Given the description of an element on the screen output the (x, y) to click on. 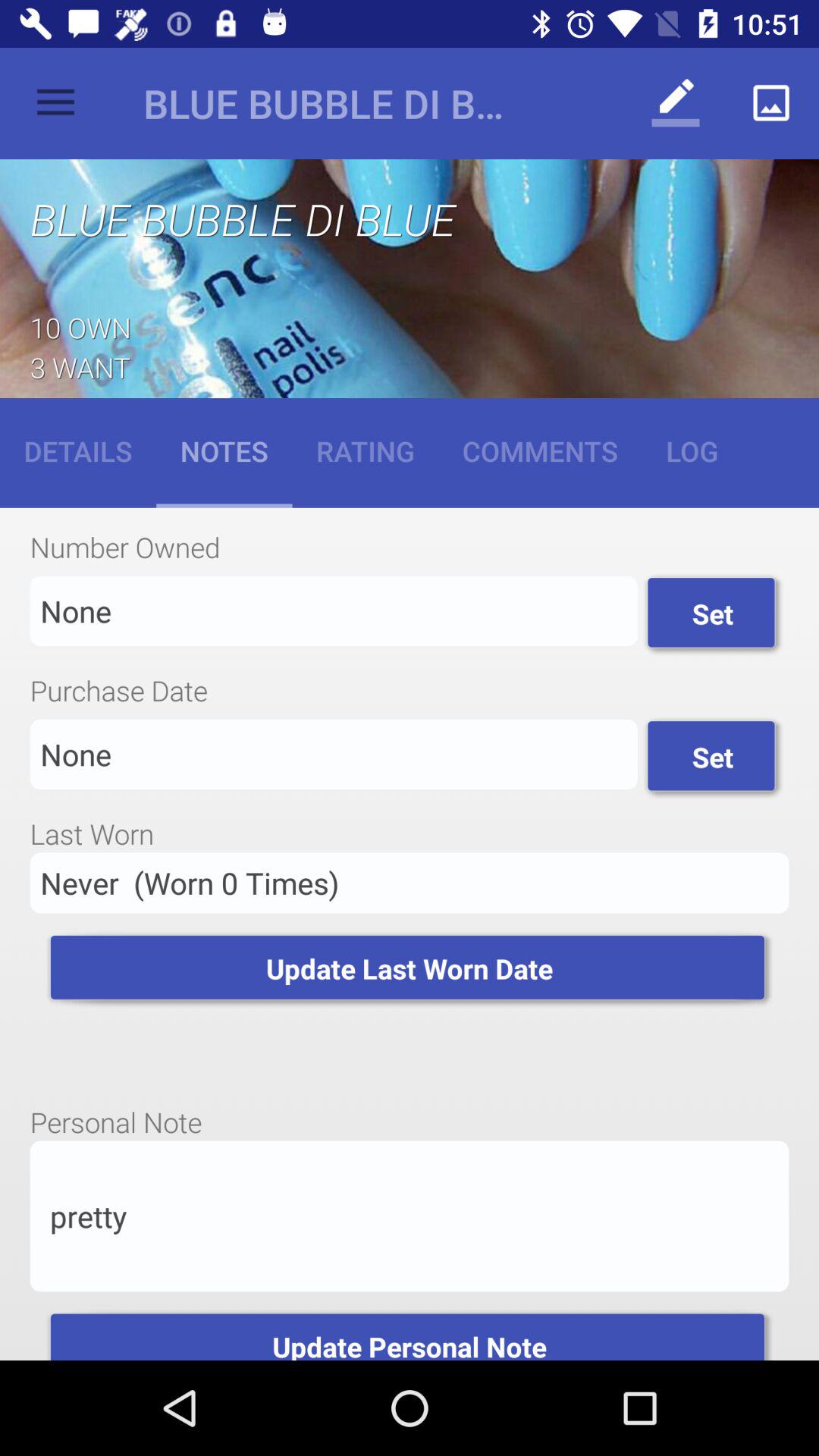
launch icon to the left of comments icon (365, 450)
